Given the description of an element on the screen output the (x, y) to click on. 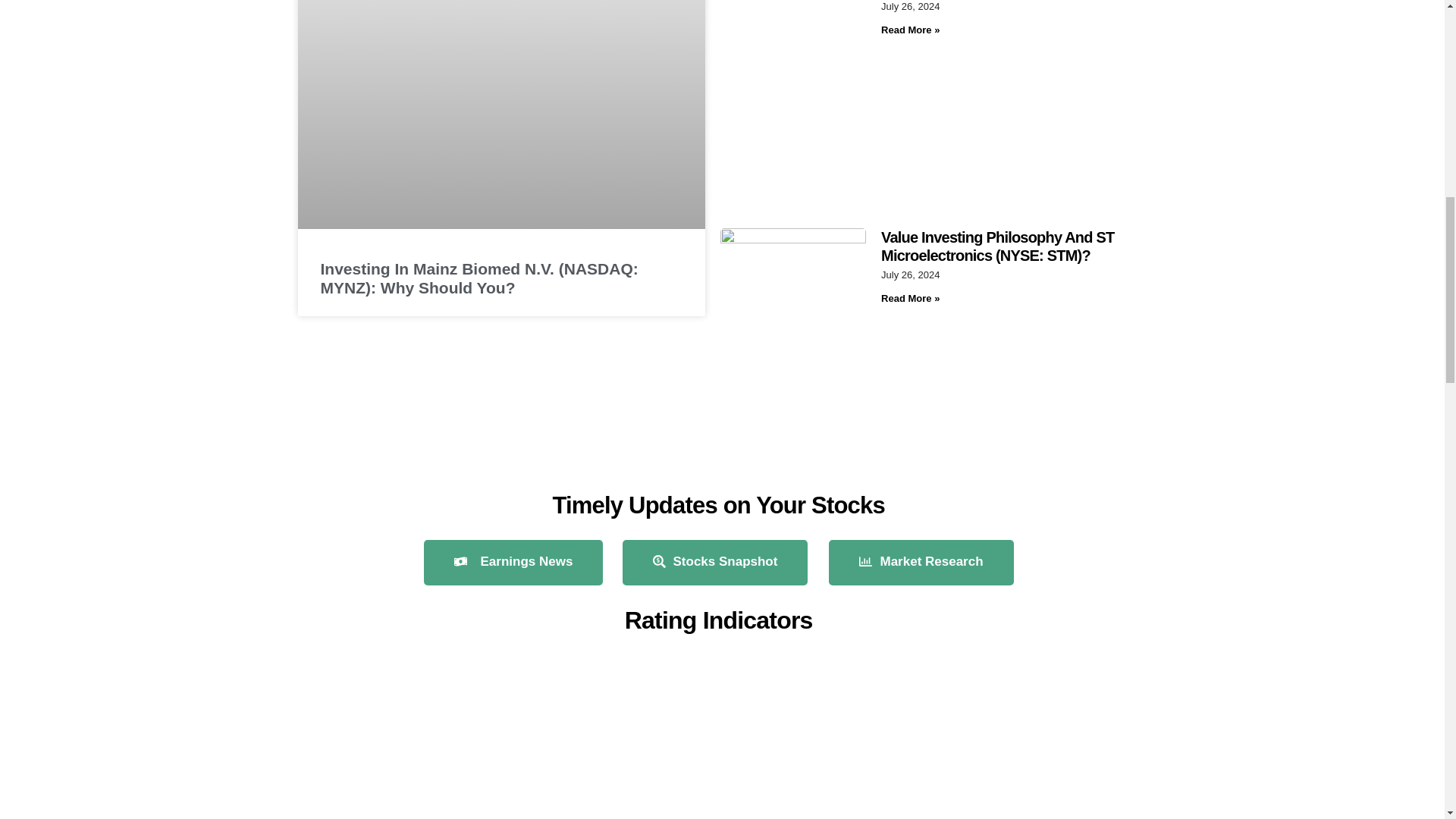
Stocks Snapshot (714, 562)
Earnings News (513, 562)
Market Research (920, 562)
